Given the description of an element on the screen output the (x, y) to click on. 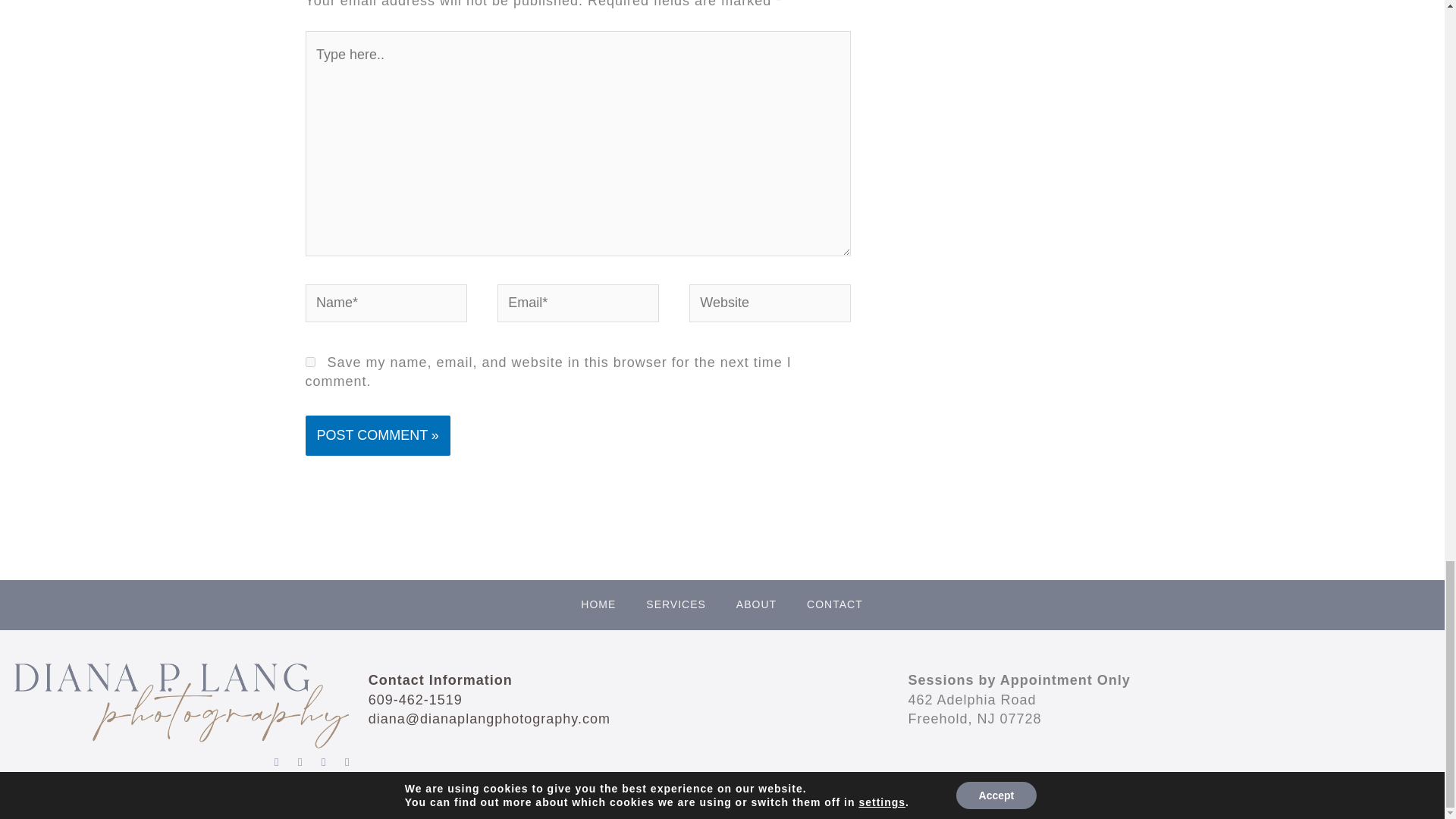
yes (309, 361)
